Given the description of an element on the screen output the (x, y) to click on. 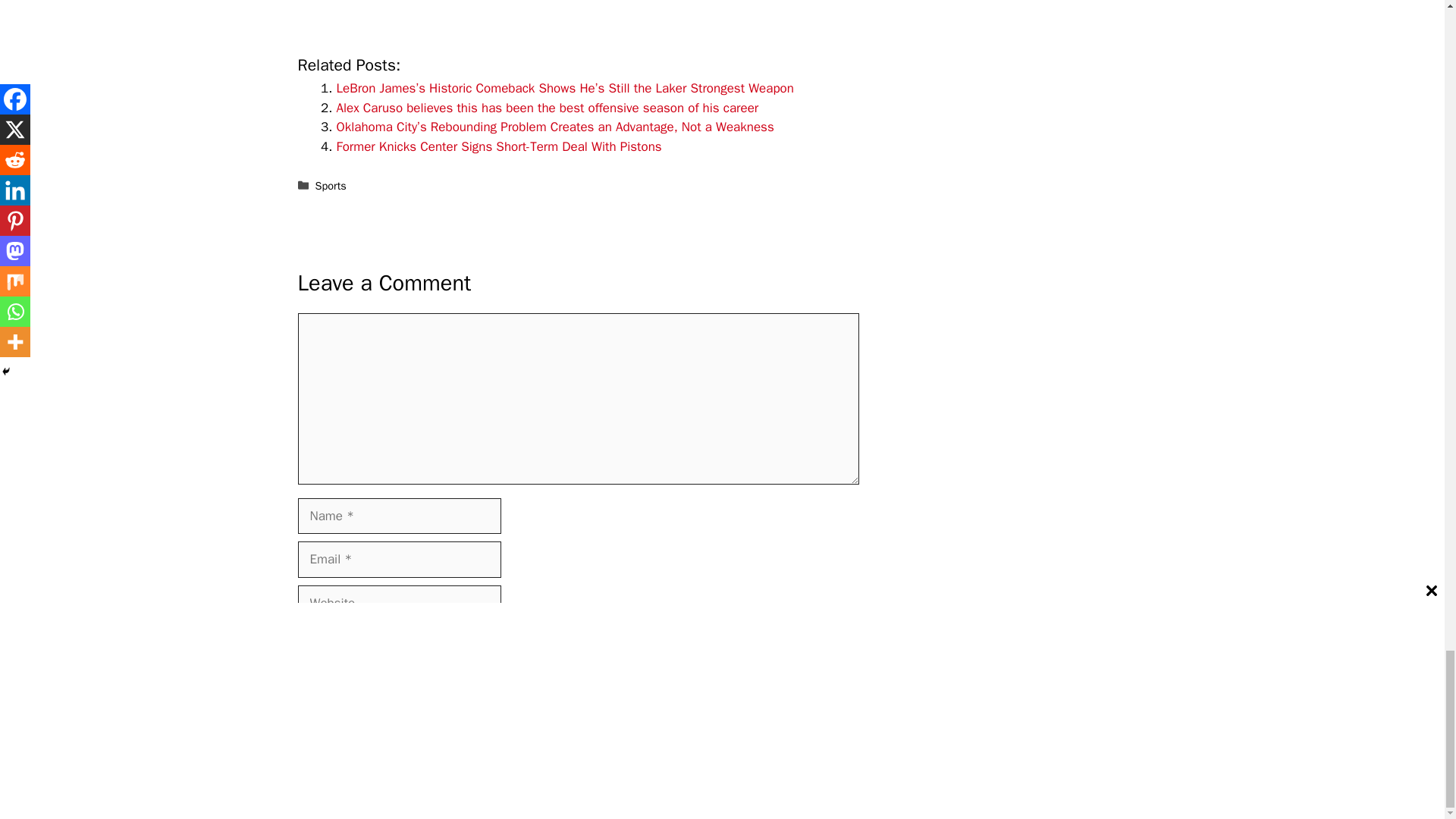
yes (302, 638)
Sports (330, 185)
Former Knicks Center Signs Short-Term Deal With Pistons (499, 146)
Post Comment (349, 684)
